Given the description of an element on the screen output the (x, y) to click on. 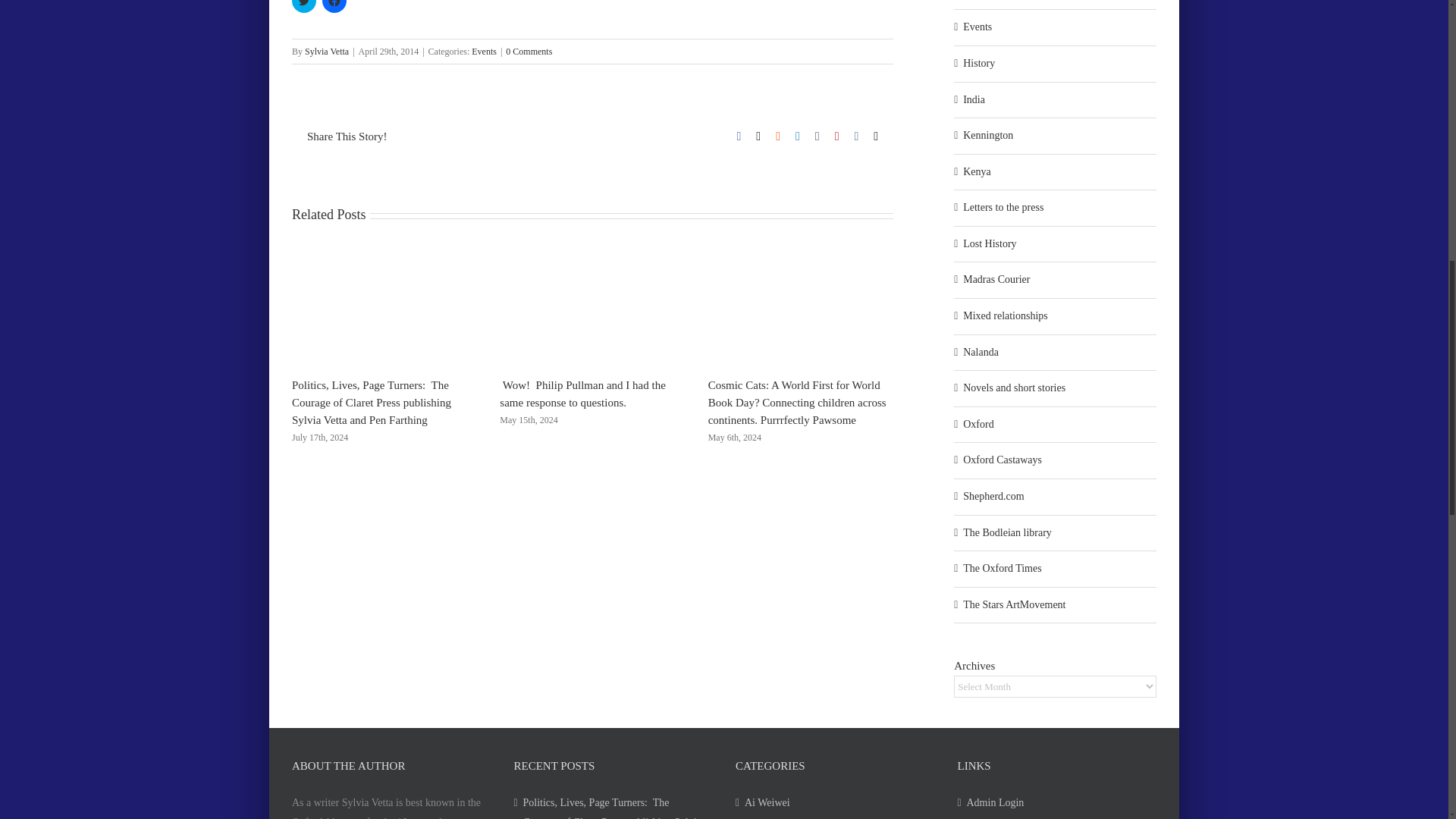
0 Comments (528, 50)
Sylvia Vetta (326, 50)
Click to share on Facebook (333, 6)
Events (483, 50)
Click to share on Twitter (303, 6)
Posts by Sylvia Vetta (326, 50)
